Given the description of an element on the screen output the (x, y) to click on. 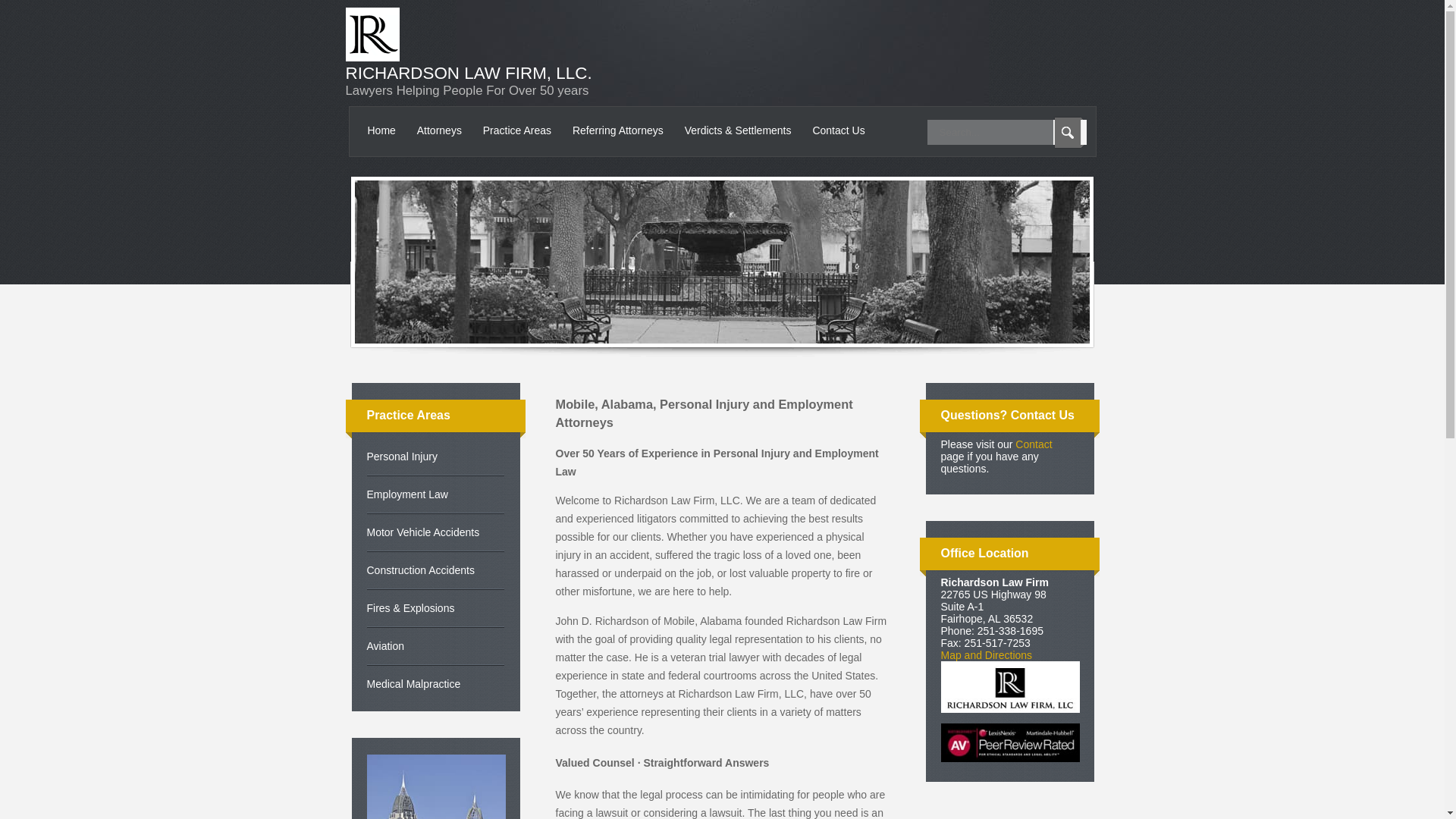
Motor Vehicle Accidents (434, 532)
Personal Injury (434, 456)
Aviation (434, 646)
Practice Areas (517, 130)
Map and Directions (986, 654)
Referring Attorneys (617, 130)
Home (381, 130)
Construction Accidents (434, 569)
Contact Us (838, 130)
Attorneys (438, 130)
